Given the description of an element on the screen output the (x, y) to click on. 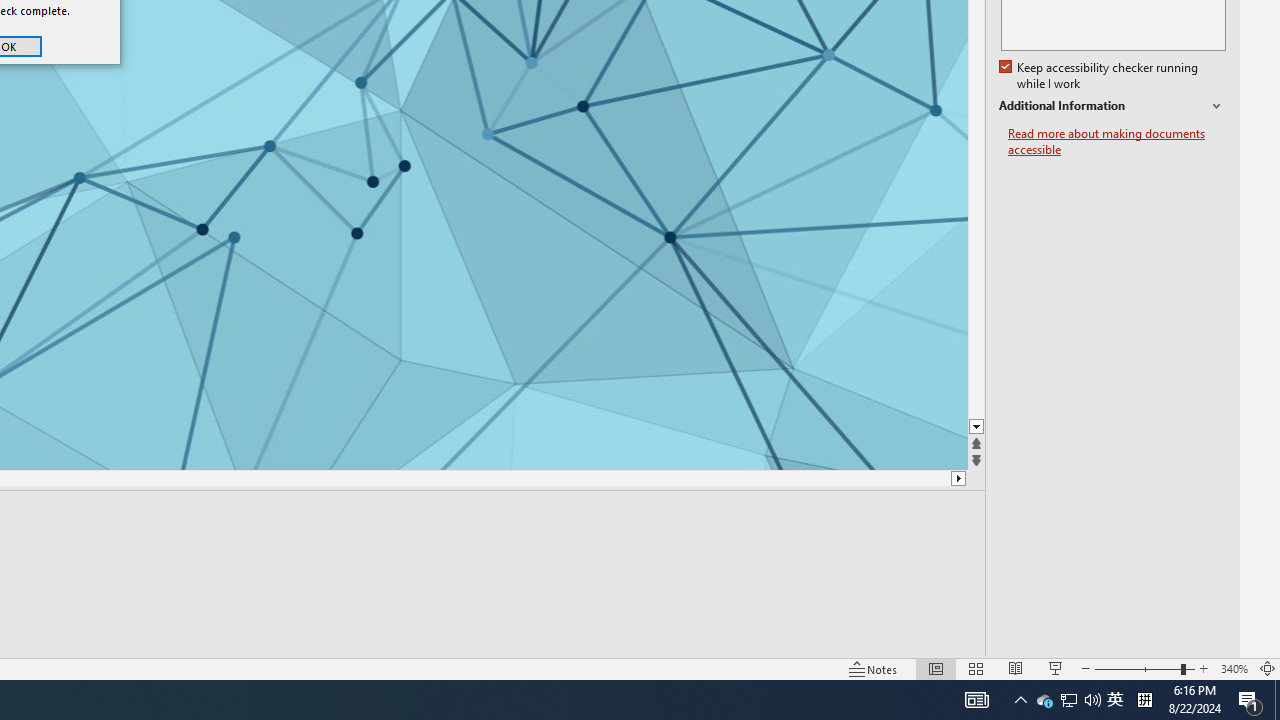
Read more about making documents accessible (1117, 142)
Keep accessibility checker running while I work (1044, 699)
Zoom 340% (1099, 76)
Action Center, 1 new notification (1234, 668)
Tray Input Indicator - Chinese (Simplified, China) (1250, 699)
Show desktop (1144, 699)
